Given the description of an element on the screen output the (x, y) to click on. 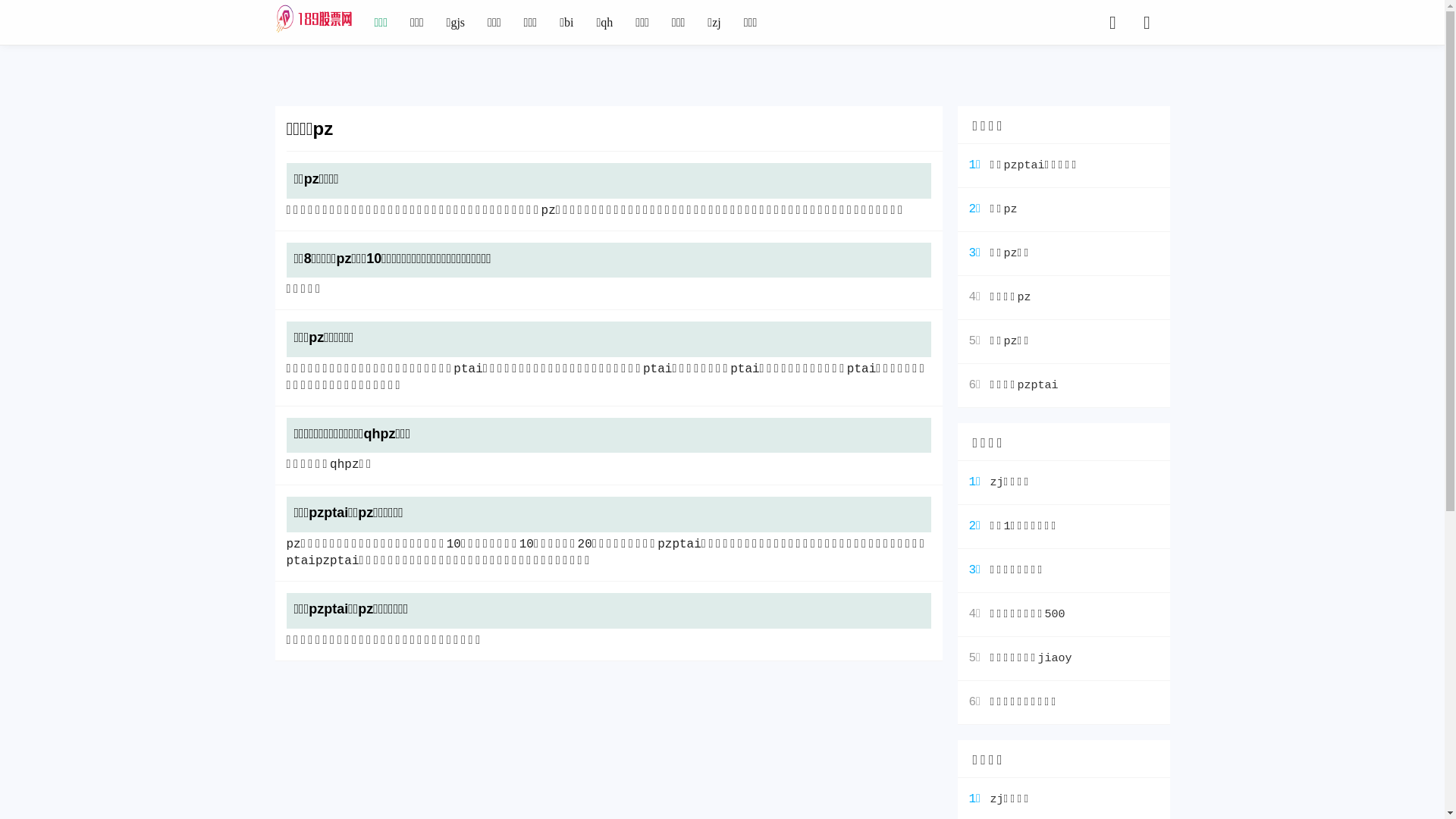
bi Element type: text (566, 22)
qh Element type: text (604, 22)
zj Element type: text (713, 22)
gjs Element type: text (455, 22)
